Given the description of an element on the screen output the (x, y) to click on. 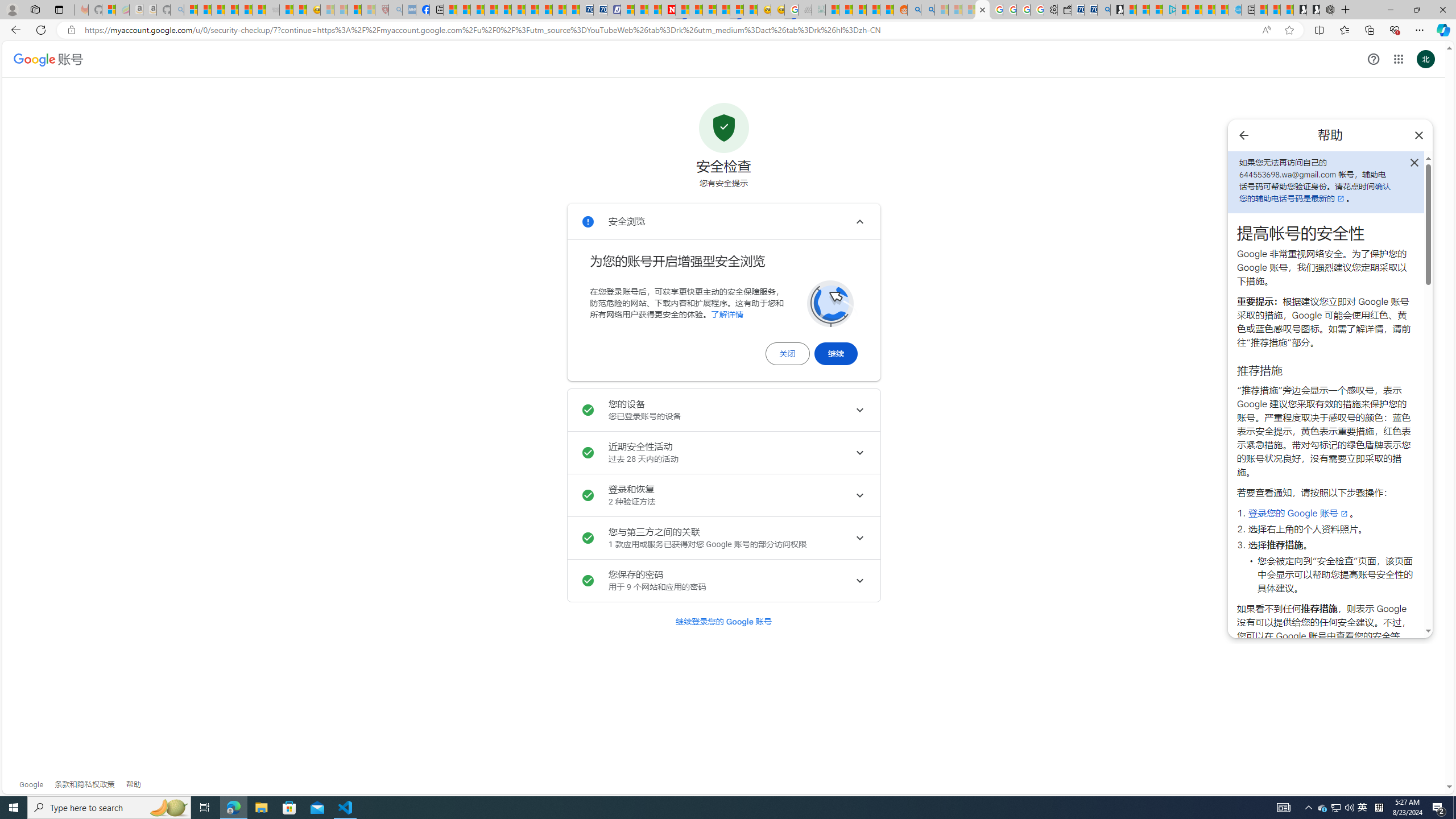
New Report Confirms 2023 Was Record Hot | Watch (245, 9)
